Given the description of an element on the screen output the (x, y) to click on. 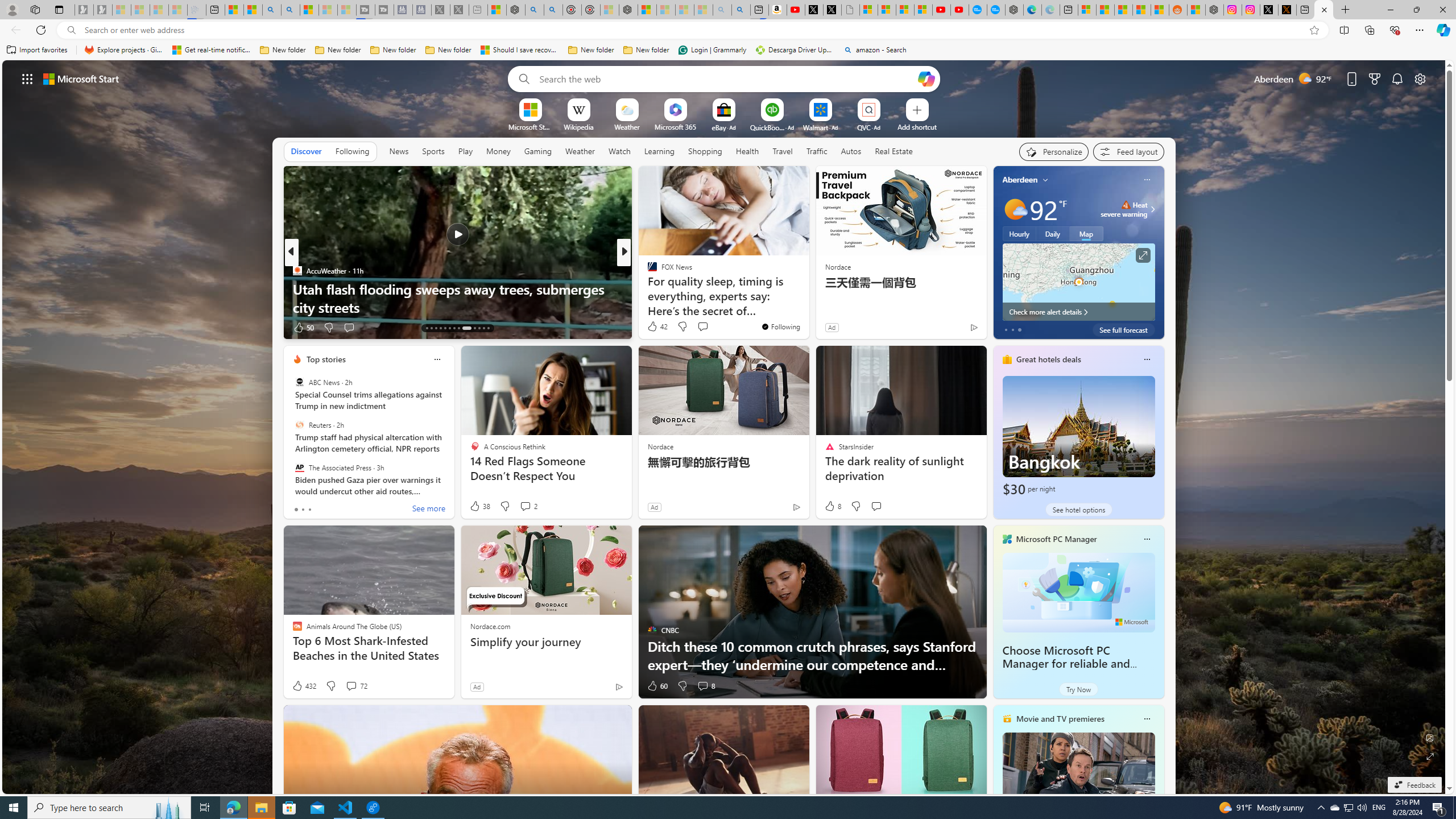
Enter your search term (726, 78)
AutomationID: backgroundImagePicture (723, 426)
AutomationID: tab-21 (466, 328)
Watch (619, 151)
See full forecast (1123, 329)
Wildlife - MSN (497, 9)
Click to see more information (1142, 255)
Reuters (299, 424)
Gaming (537, 151)
Personalize your feed" (1054, 151)
Ad (476, 686)
Start the conversation (876, 505)
View comments 72 Comment (355, 685)
